Given the description of an element on the screen output the (x, y) to click on. 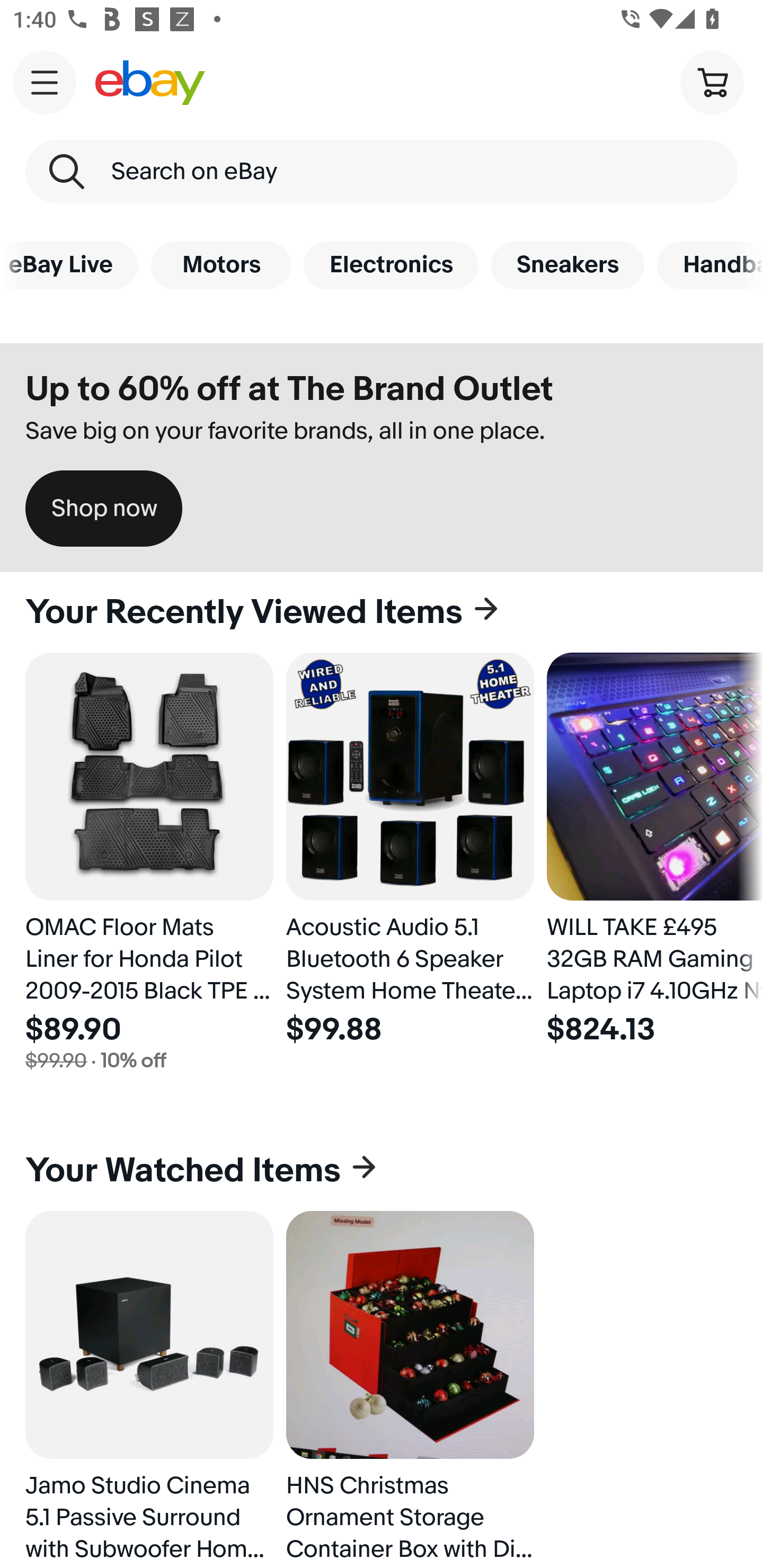
Main navigation, open (44, 82)
Cart button shopping cart (711, 81)
Search on eBay Search Keyword Search on eBay (381, 171)
eBay Live (69, 264)
Motors (220, 264)
Electronics (390, 264)
Sneakers (567, 264)
Up to 60% off at The Brand Outlet (289, 389)
Shop now (103, 508)
Your Recently Viewed Items   (381, 612)
Your Watched Items   (381, 1170)
